Given the description of an element on the screen output the (x, y) to click on. 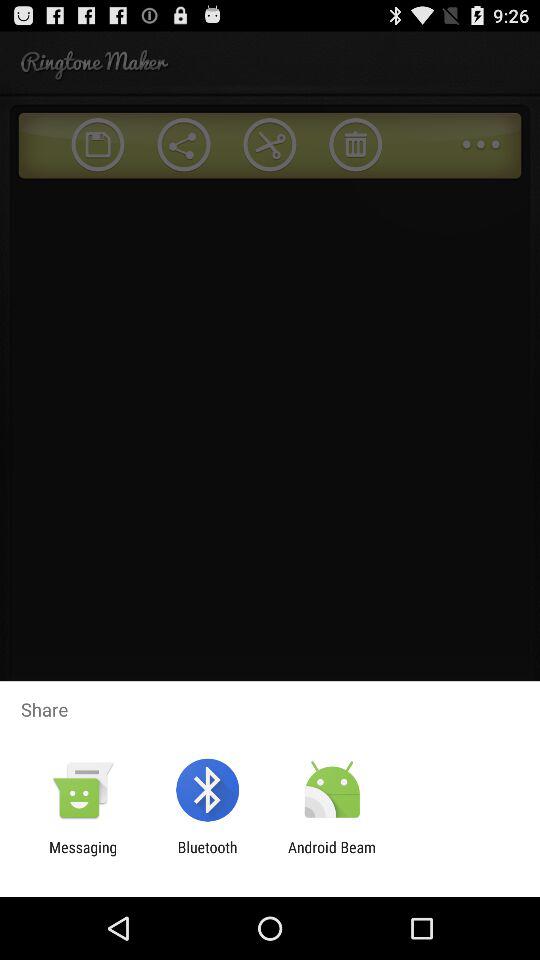
turn on the item to the right of the bluetooth (332, 856)
